Given the description of an element on the screen output the (x, y) to click on. 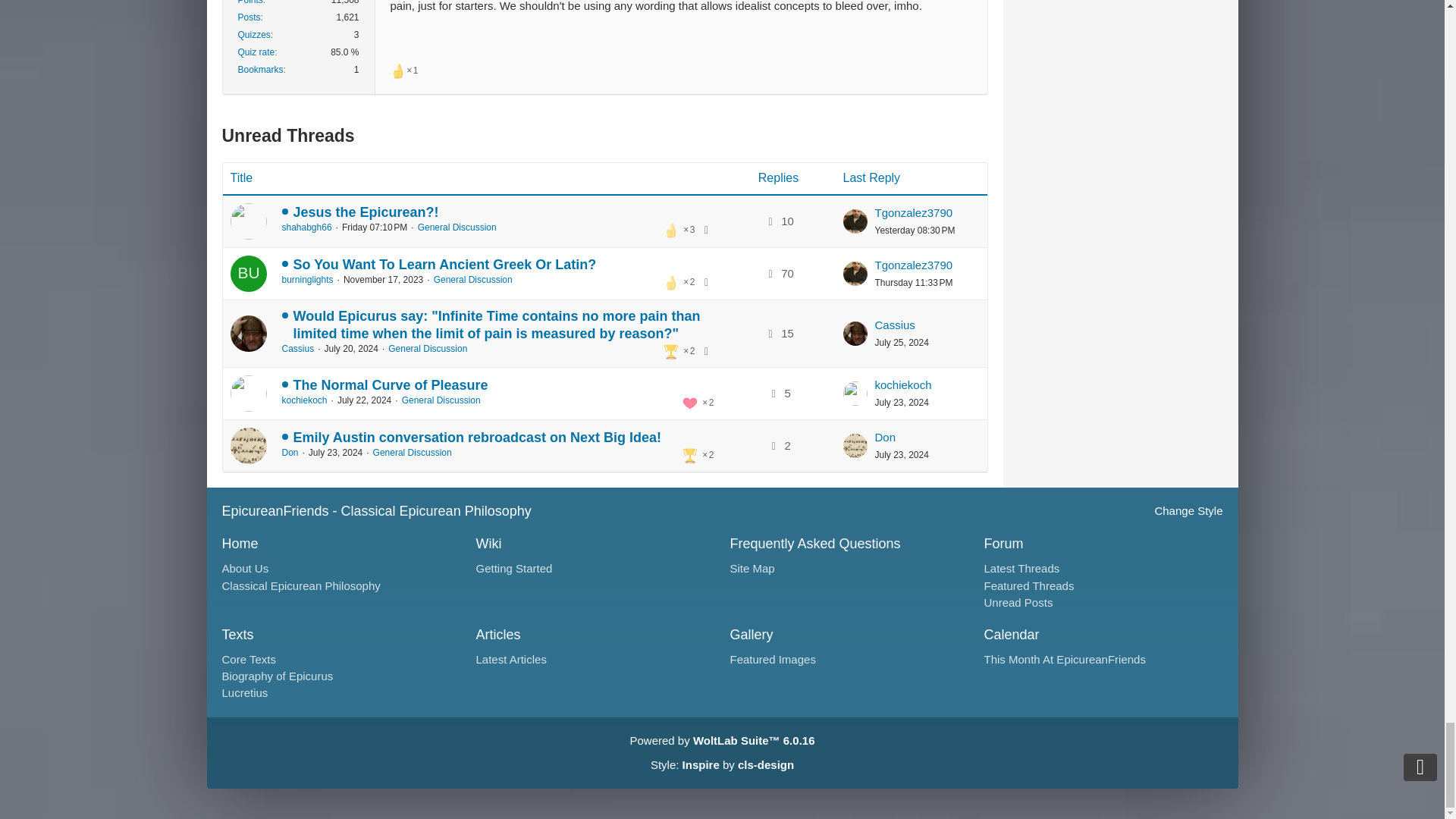
Double-Click to Mark This Thread Read (248, 273)
Double-Click to Mark This Thread Read (248, 333)
Double-Click to Mark This Thread Read (248, 393)
Double-Click to Mark This Thread Read (248, 221)
Double-Click to Mark This Thread Read (248, 445)
